Given the description of an element on the screen output the (x, y) to click on. 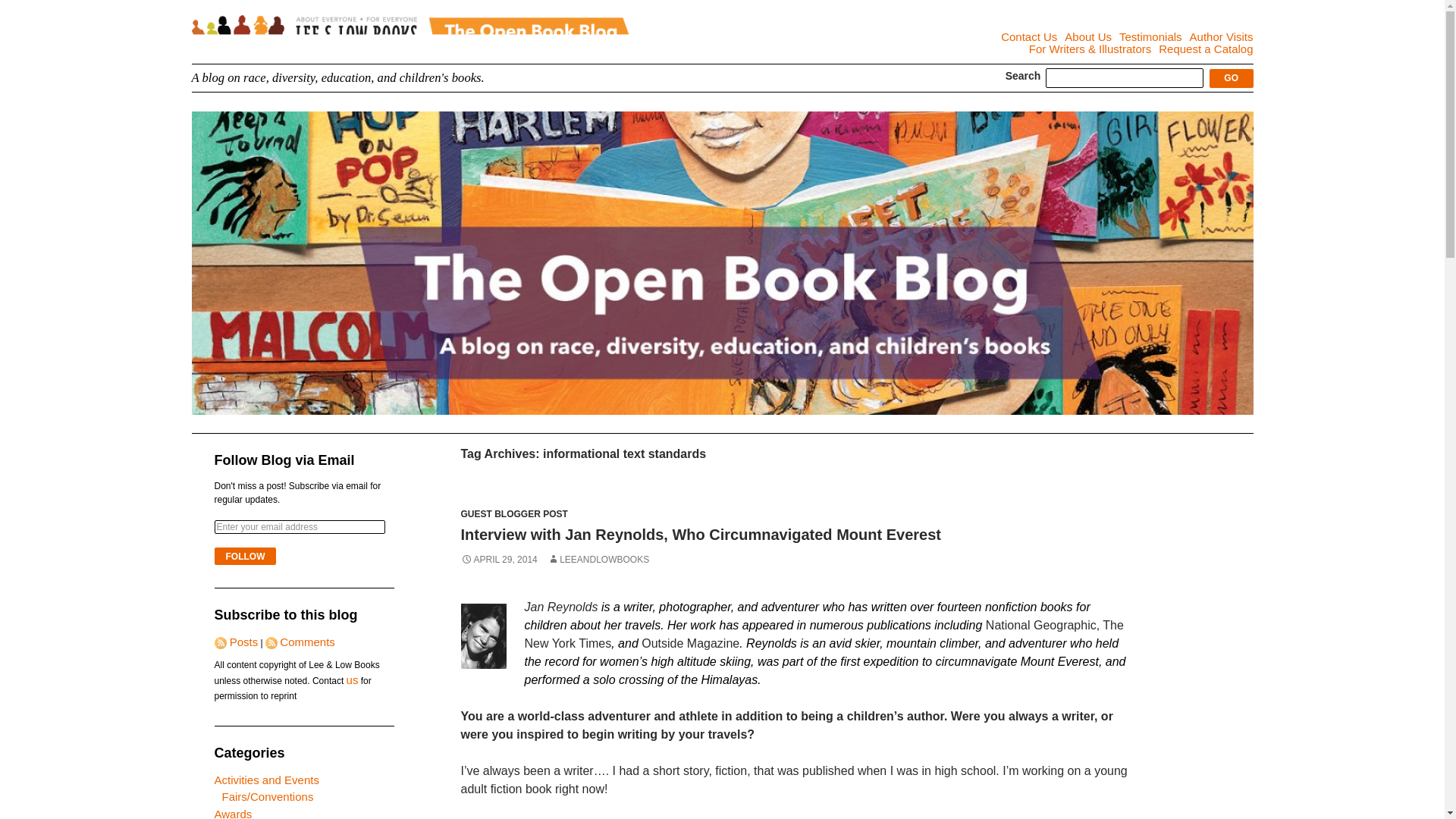
APRIL 29, 2014 (499, 559)
Request a Catalog (1205, 48)
Follow (245, 556)
Contact Us (1029, 36)
GUEST BLOGGER POST (514, 513)
LEEANDLOWBOOKS (598, 559)
About Us (1088, 36)
GO (1231, 77)
Author Visits (1221, 36)
